Given the description of an element on the screen output the (x, y) to click on. 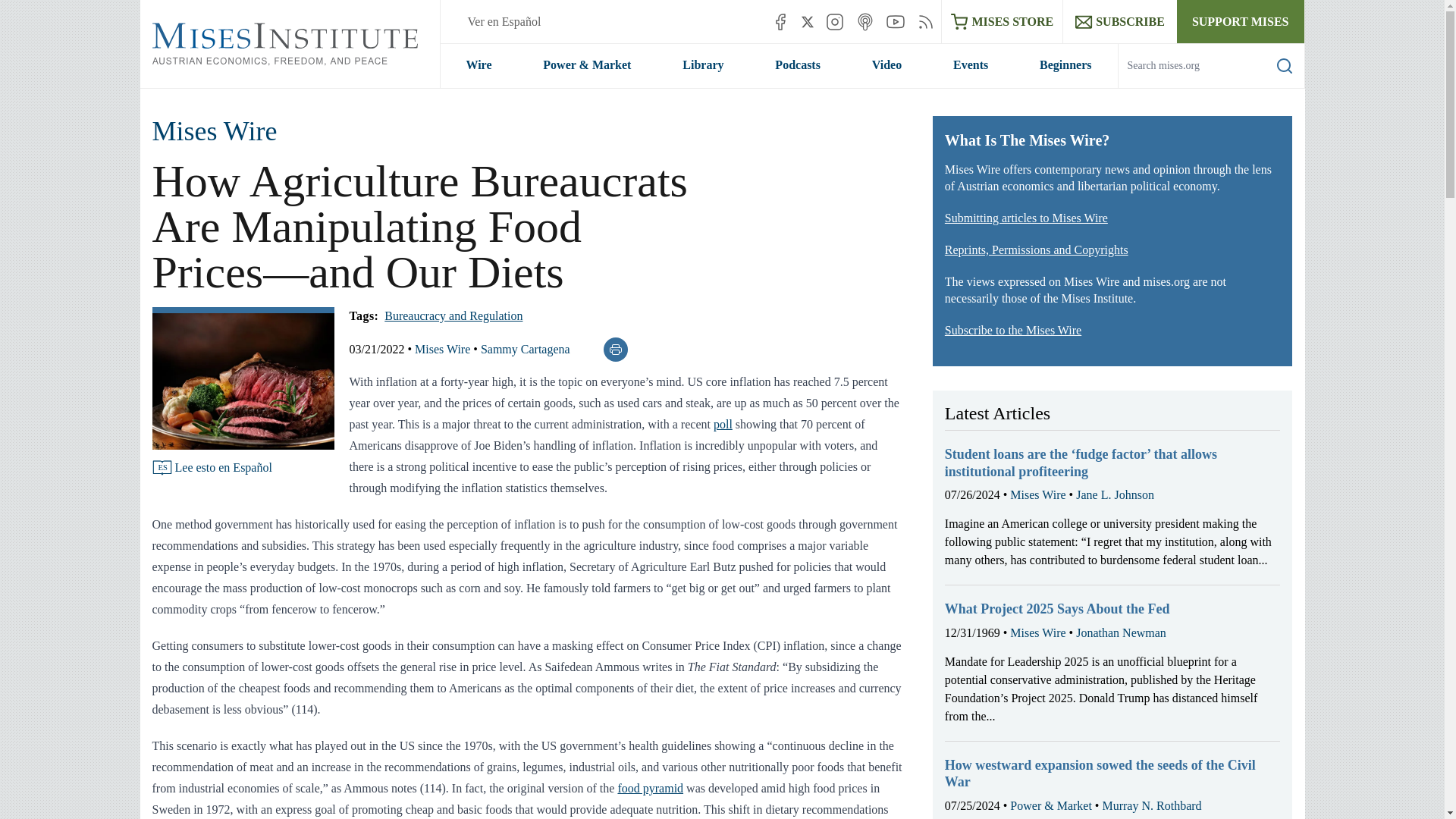
MISES STORE (1002, 21)
Video (886, 65)
Mises RSS feed (925, 21)
Beginners (1064, 65)
Wire (477, 65)
Podcasts (797, 65)
Submit (1272, 87)
Events (970, 65)
Library (702, 65)
Mises Instagram (834, 21)
Mises itunes (865, 21)
Mises Youtube (895, 21)
Search (1284, 65)
SUBSCRIBE (1119, 21)
